Given the description of an element on the screen output the (x, y) to click on. 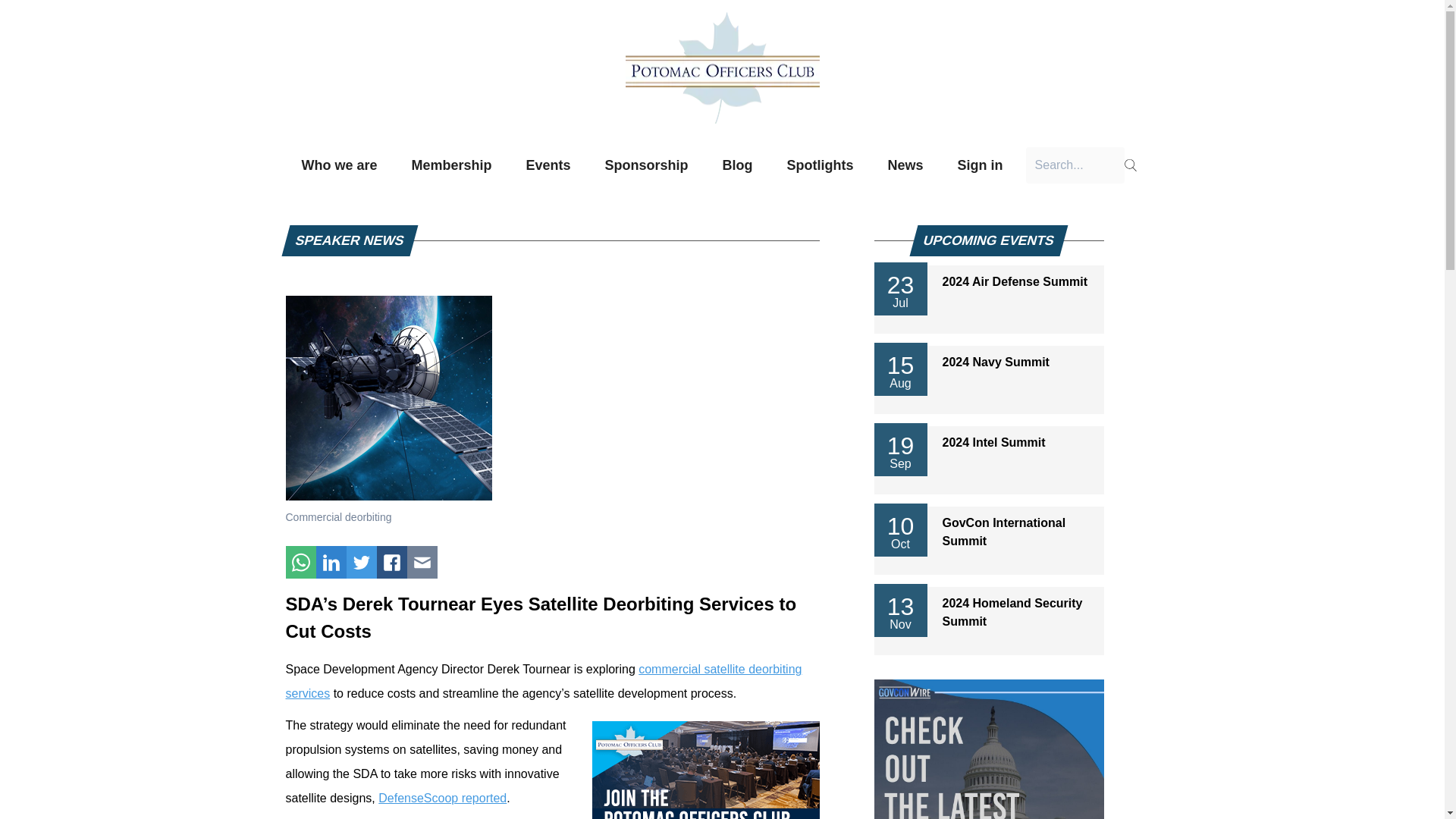
Sign in (980, 164)
Spotlights (820, 164)
commercial satellite deorbiting services (543, 681)
DefenseScoop reported (442, 797)
Events (988, 612)
Who we are (988, 532)
Sponsorship (546, 164)
Membership (338, 164)
News (988, 281)
Blog (647, 164)
